Given the description of an element on the screen output the (x, y) to click on. 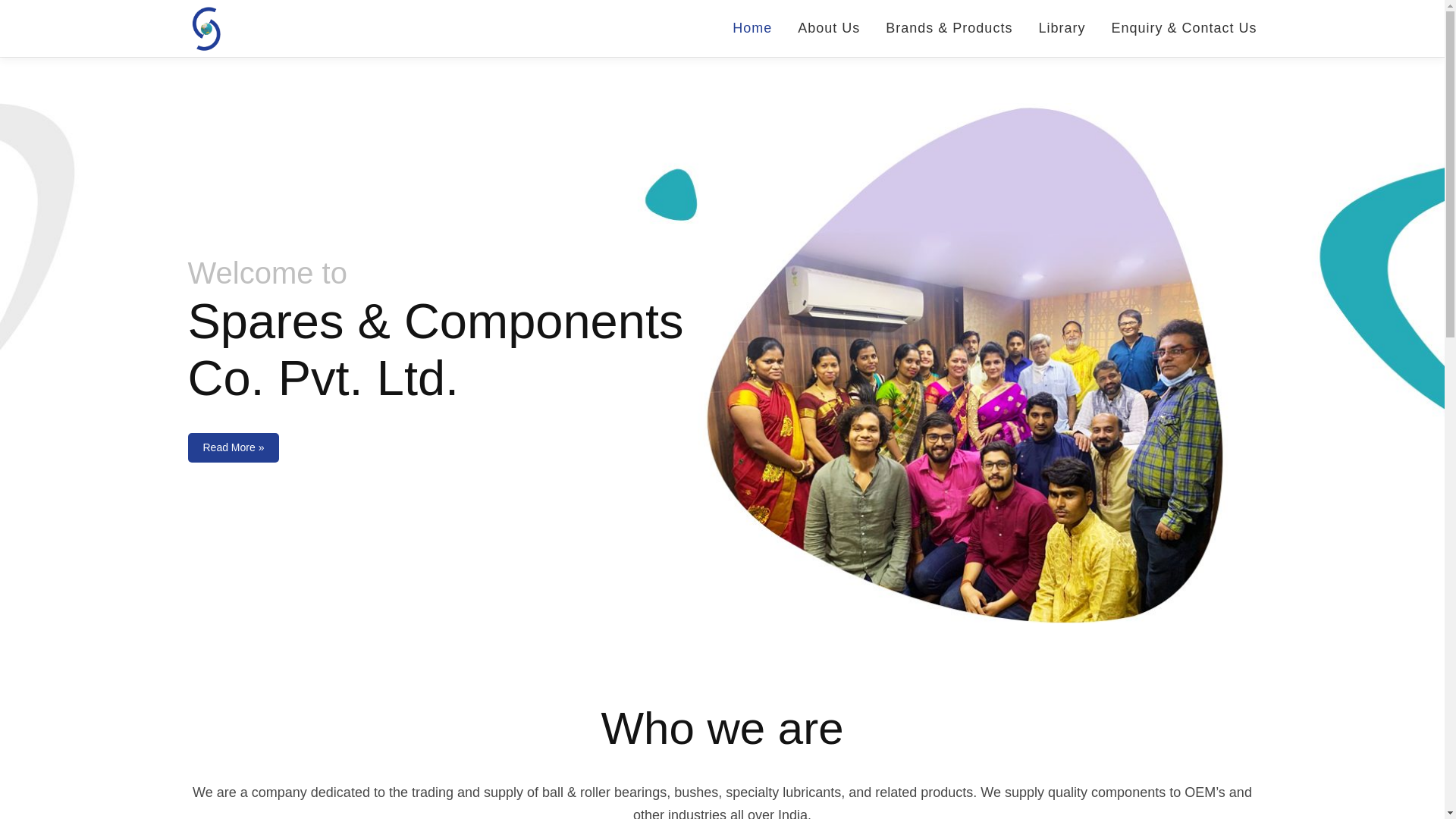
About Us (828, 28)
Home (751, 28)
Library (1061, 28)
